Given the description of an element on the screen output the (x, y) to click on. 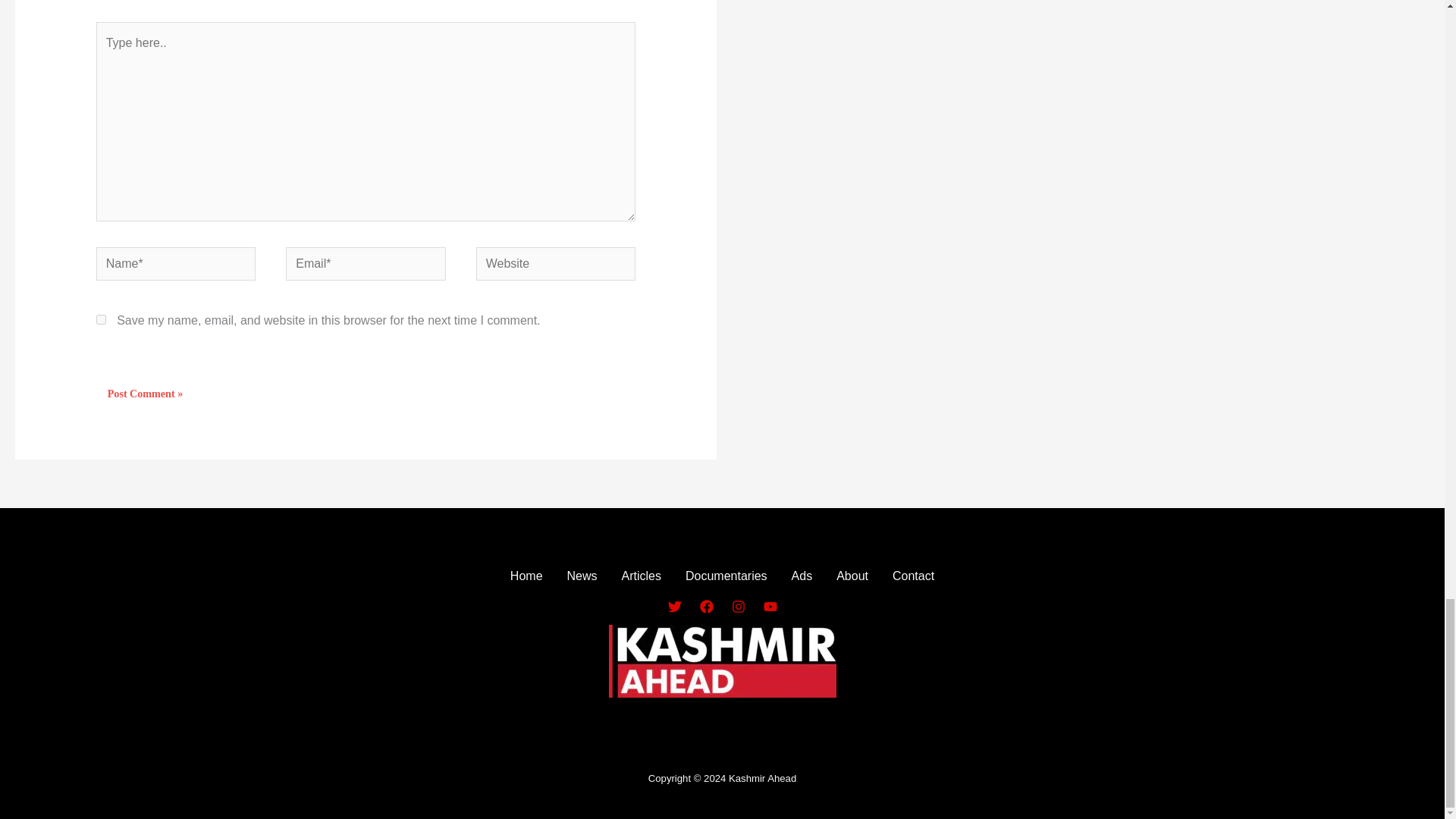
yes (101, 319)
